Given the description of an element on the screen output the (x, y) to click on. 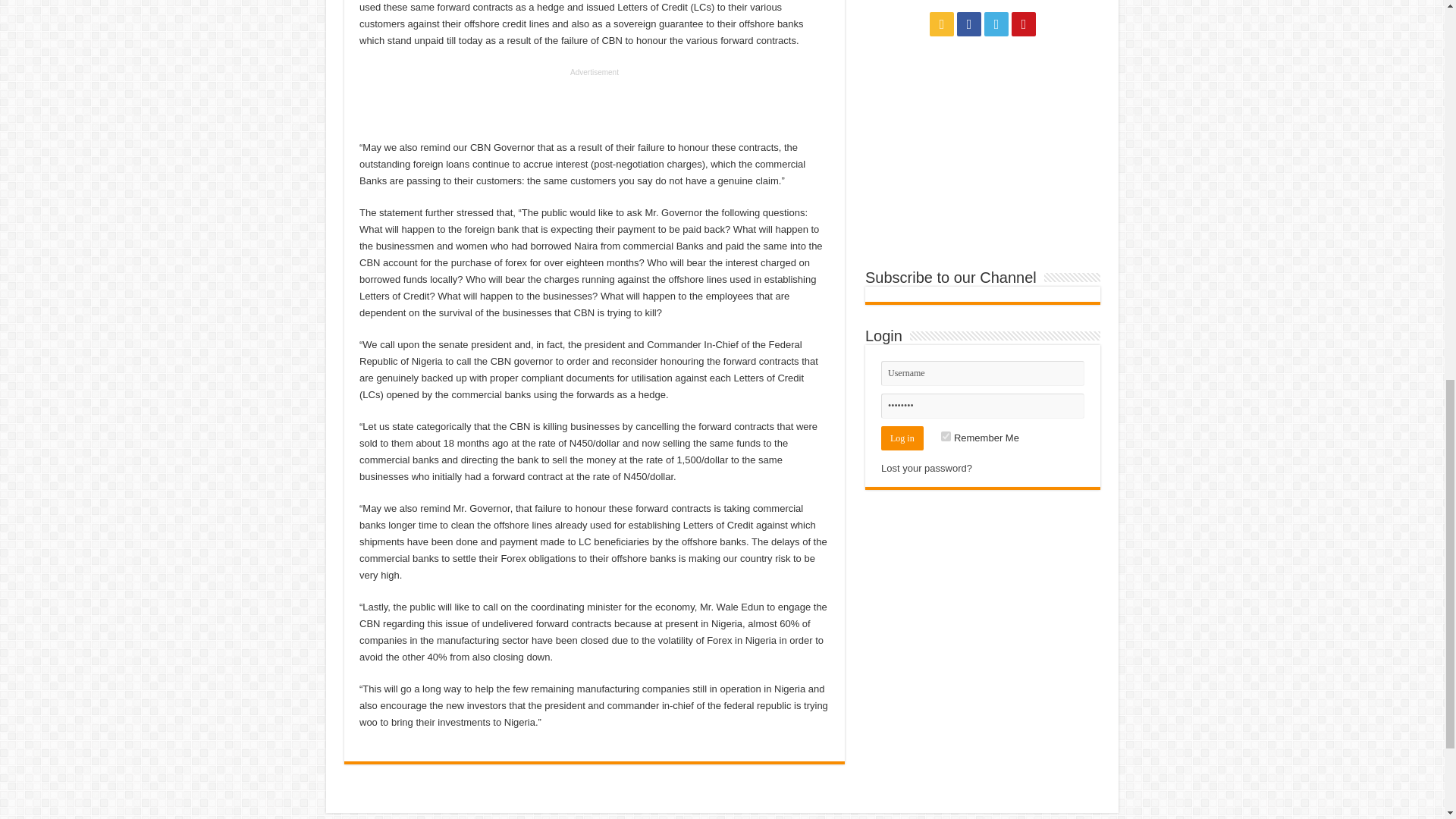
Username (982, 373)
forever (945, 436)
Password (982, 405)
Log in (901, 437)
